Given the description of an element on the screen output the (x, y) to click on. 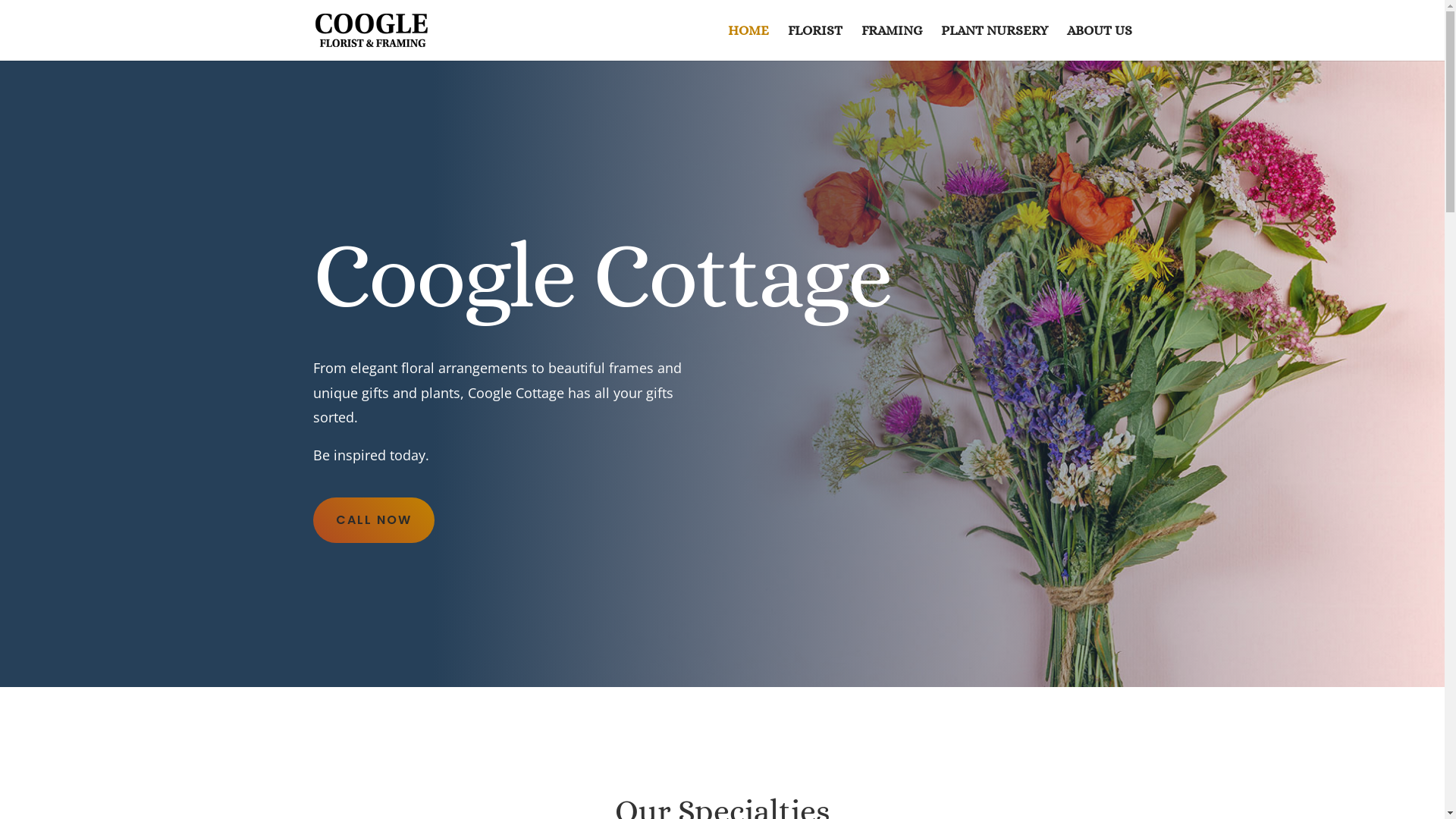
ABOUT US Element type: text (1098, 42)
PLANT NURSERY Element type: text (993, 42)
FRAMING Element type: text (891, 42)
HOME Element type: text (748, 42)
CALL NOW Element type: text (372, 519)
FLORIST Element type: text (814, 42)
